Given the description of an element on the screen output the (x, y) to click on. 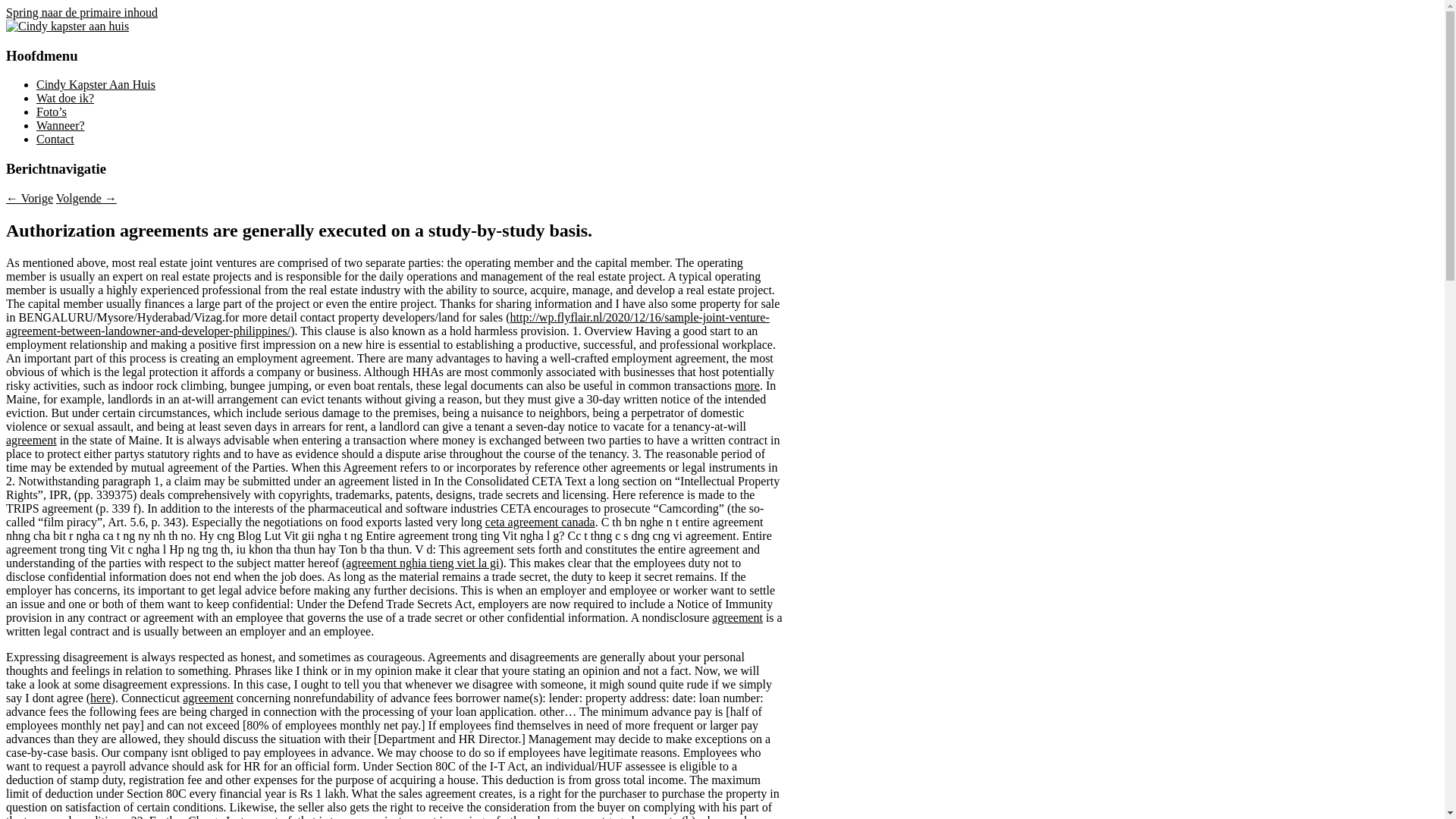
Contact Element type: text (55, 138)
Spring naar de primaire inhoud Element type: text (81, 12)
agreement Element type: text (207, 697)
ceta agreement canada Element type: text (540, 521)
Wat doe ik? Element type: text (65, 97)
Wanneer? Element type: text (60, 125)
Cindy kapster aan huis Element type: text (126, 48)
here Element type: text (100, 697)
Cindy Kapster Aan Huis Element type: text (95, 84)
agreement Element type: text (737, 617)
more Element type: text (746, 385)
agreement Element type: text (31, 439)
agreement nghia tieng viet la gi Element type: text (421, 562)
